Given the description of an element on the screen output the (x, y) to click on. 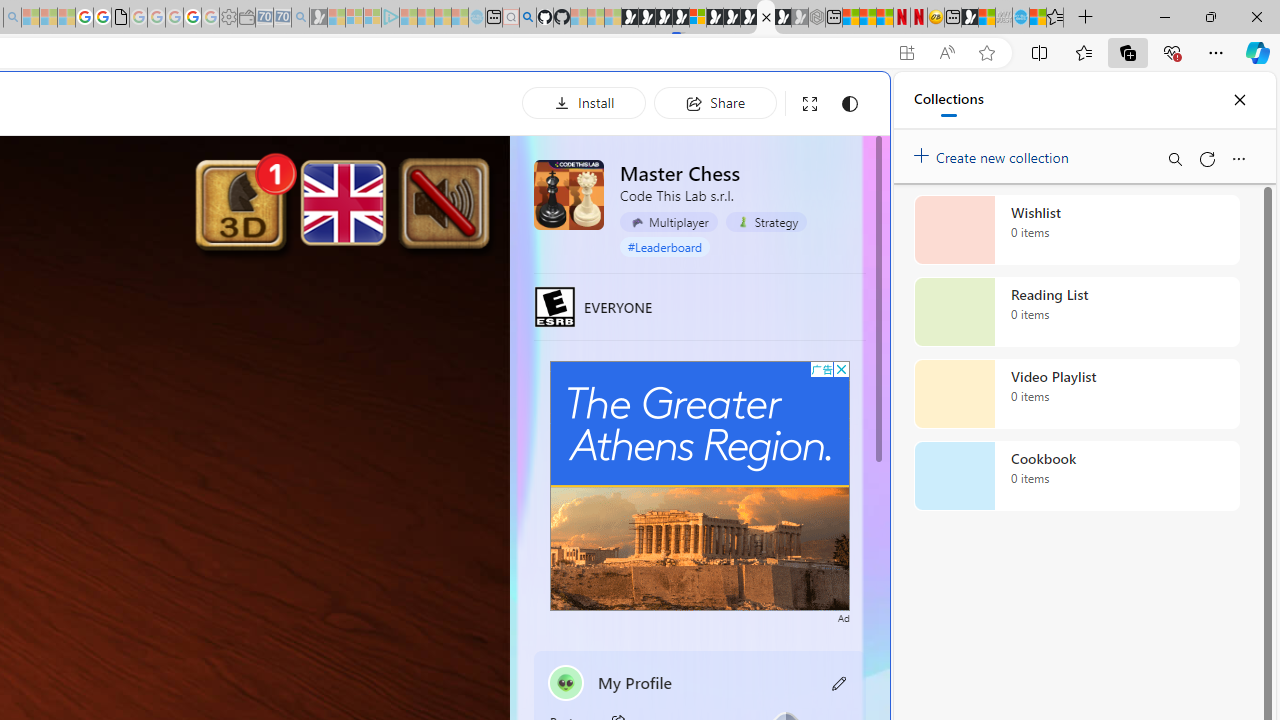
World - MSN (986, 17)
Share (715, 102)
Microsoft Start Gaming - Sleeping (317, 17)
Play Cave FRVR in your browser | Games from Microsoft Start (663, 17)
Tabs you've opened (276, 265)
Create new collection (994, 153)
